Given the description of an element on the screen output the (x, y) to click on. 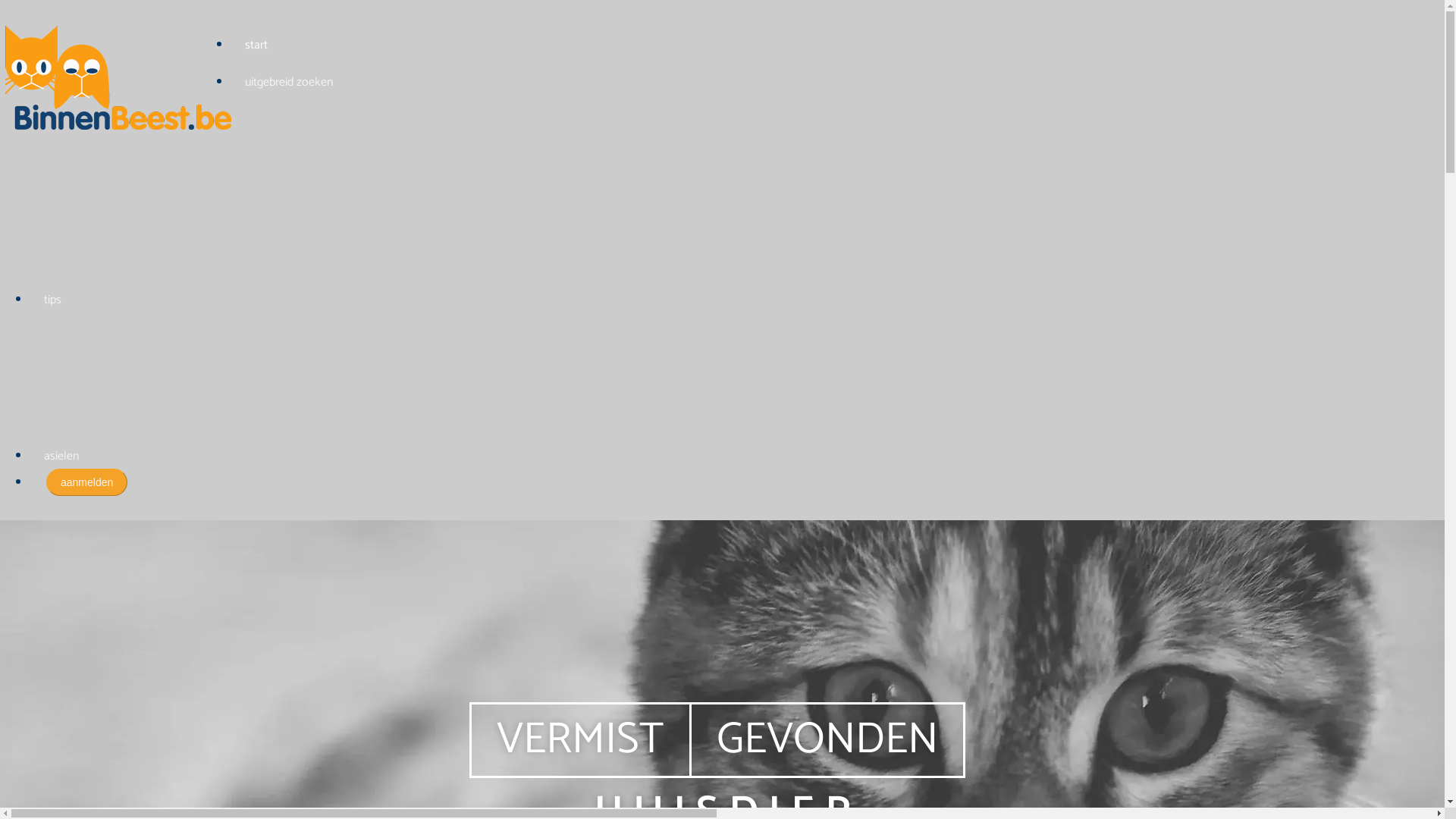
uitgebreid zoeken Element type: text (288, 82)
GEVONDEN Element type: text (827, 739)
aanmelden Element type: text (86, 482)
asielen Element type: text (61, 455)
VERMIST Element type: text (579, 739)
aanmelden Element type: text (86, 481)
start Element type: text (256, 44)
tips Element type: text (52, 299)
